Given the description of an element on the screen output the (x, y) to click on. 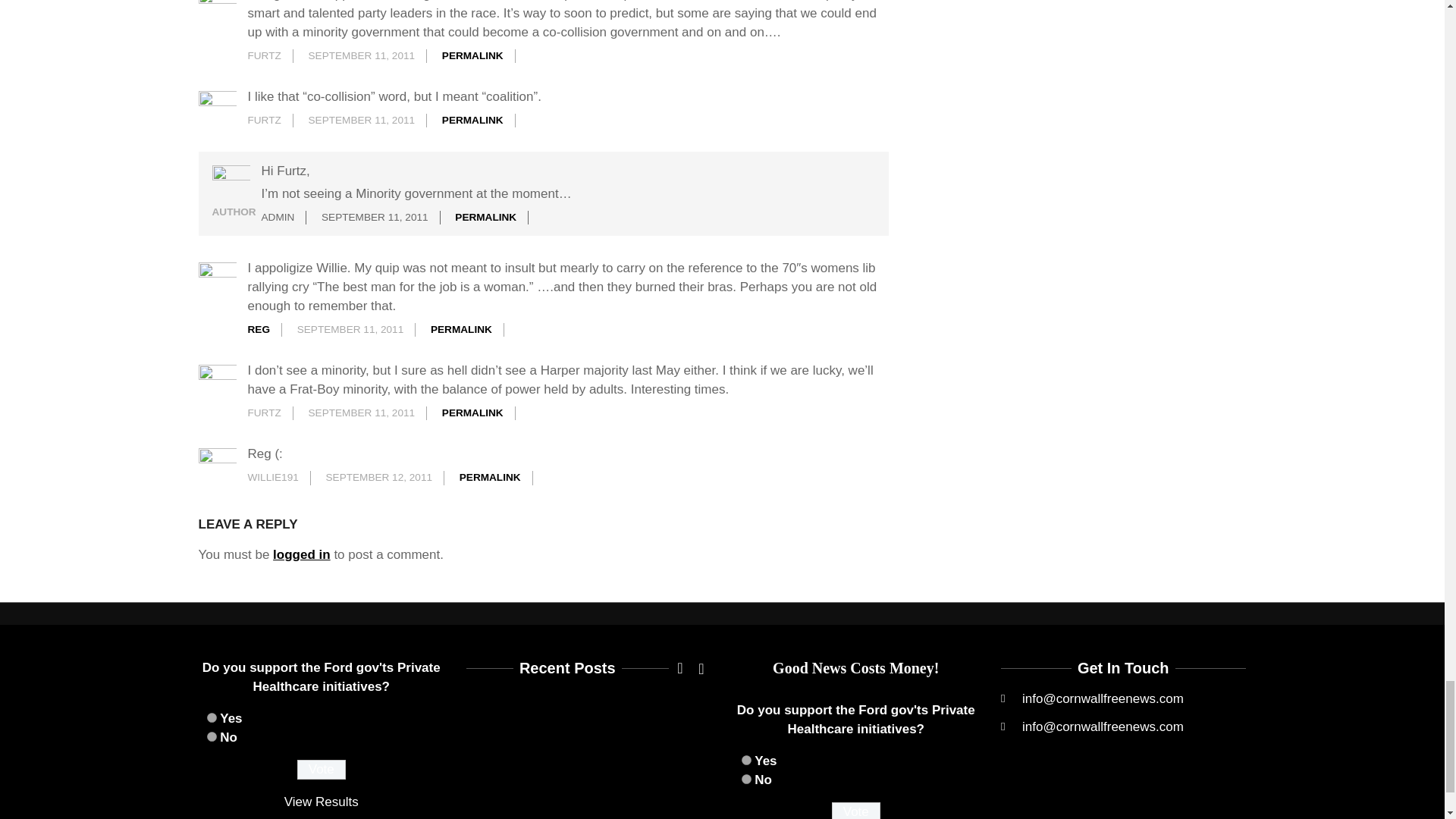
1776 (746, 759)
1777 (210, 737)
1776 (210, 717)
   Vote    (855, 810)
1777 (746, 778)
   Vote    (321, 769)
